Given the description of an element on the screen output the (x, y) to click on. 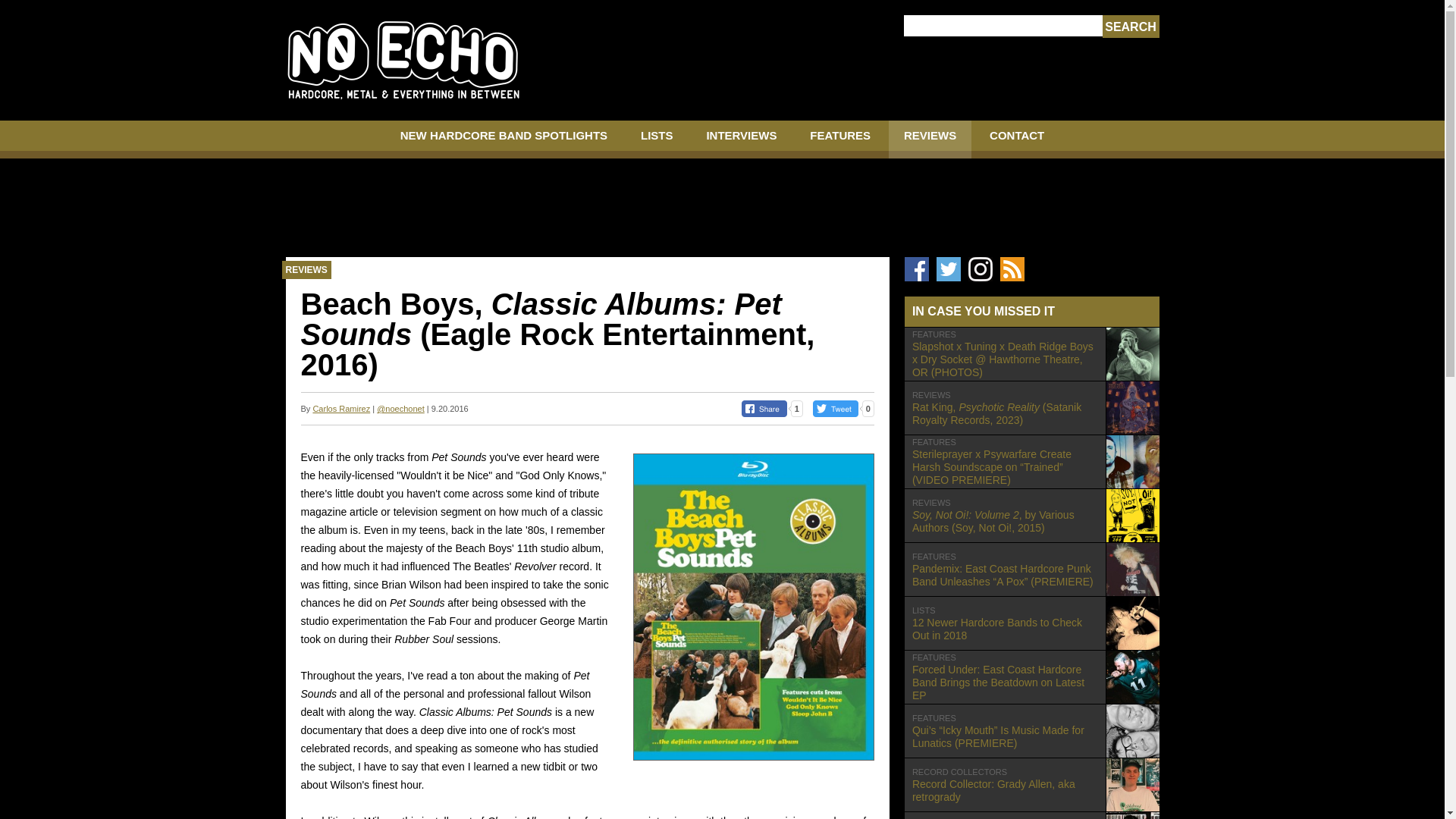
Search (1130, 26)
LISTS (657, 139)
INTERVIEWS (741, 139)
Search (1130, 26)
NEW HARDCORE BAND SPOTLIGHTS (504, 139)
CONTACT (1031, 623)
REVIEWS (1016, 139)
